Given the description of an element on the screen output the (x, y) to click on. 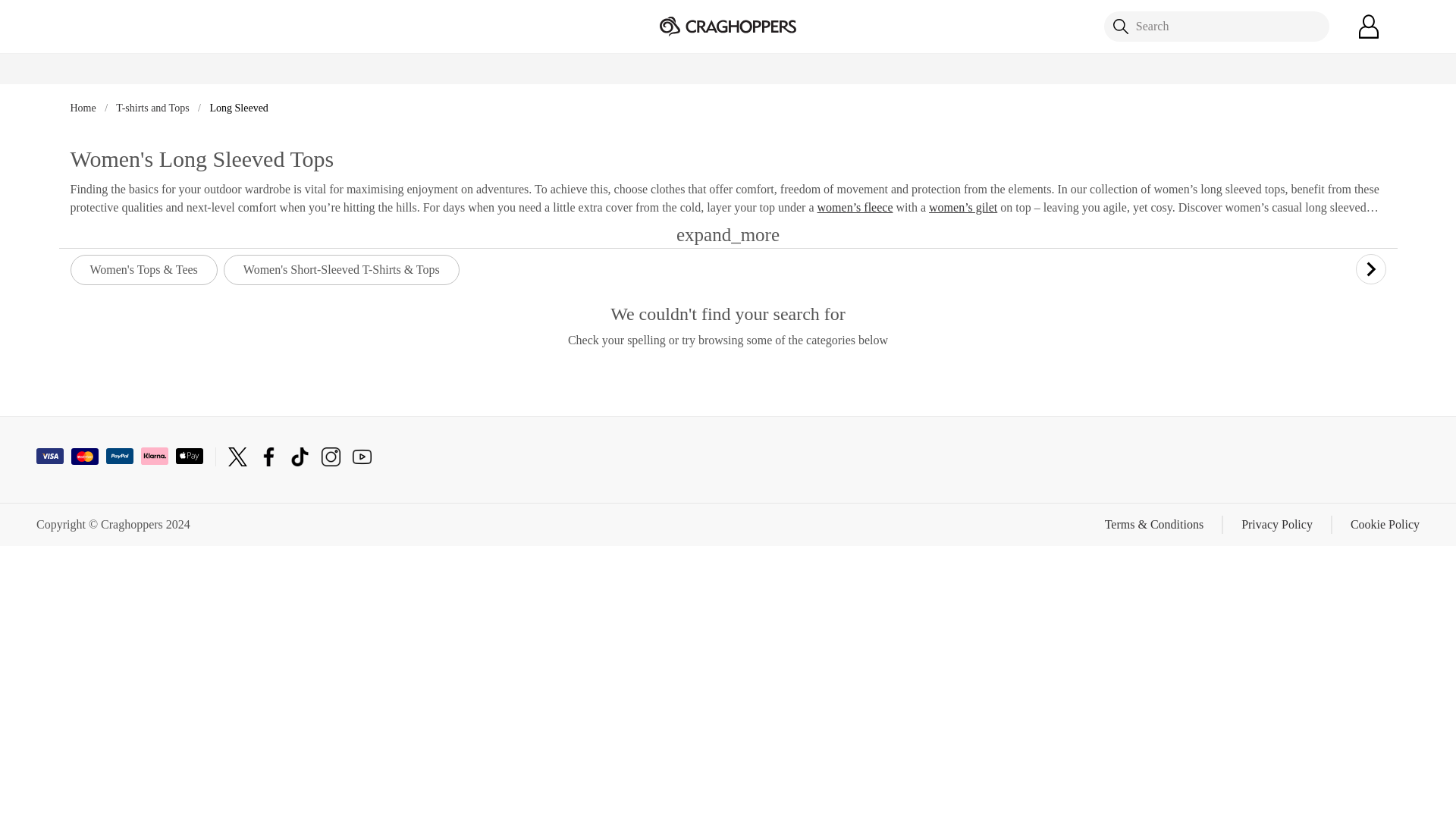
Home (84, 107)
T-shirts and Tops (154, 107)
Long Sleeved (238, 107)
Search (1216, 26)
Right (1370, 268)
Home Page (727, 24)
